Given the description of an element on the screen output the (x, y) to click on. 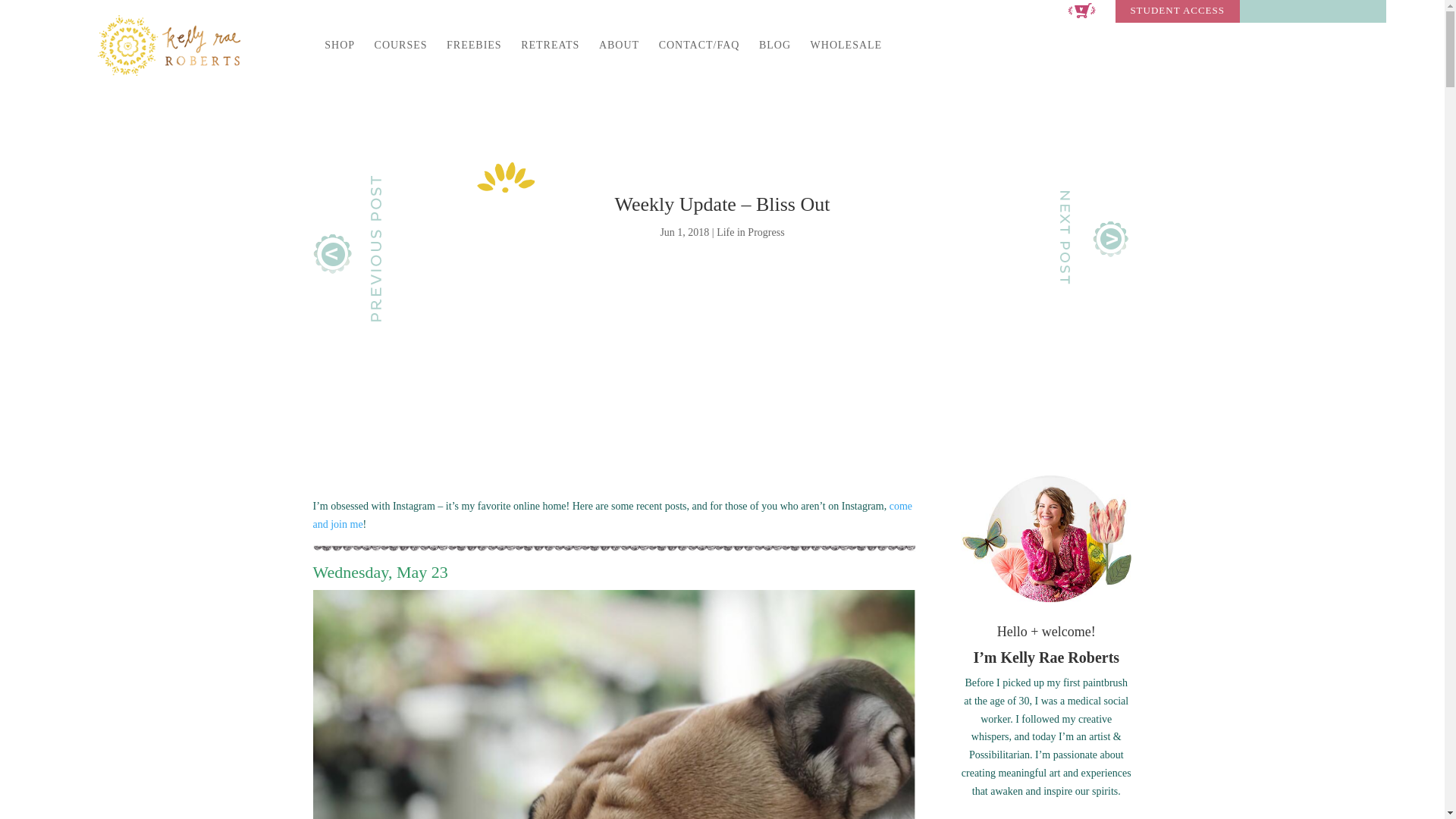
STUDENT ACCESS (1177, 13)
Life in Progress (750, 232)
come and join me (612, 514)
RETREATS (550, 58)
ABOUT (618, 58)
BLOG (774, 58)
hello and welcome (1045, 538)
COURSES (401, 58)
WHOLESALE (846, 58)
FREEBIES (474, 58)
